Given the description of an element on the screen output the (x, y) to click on. 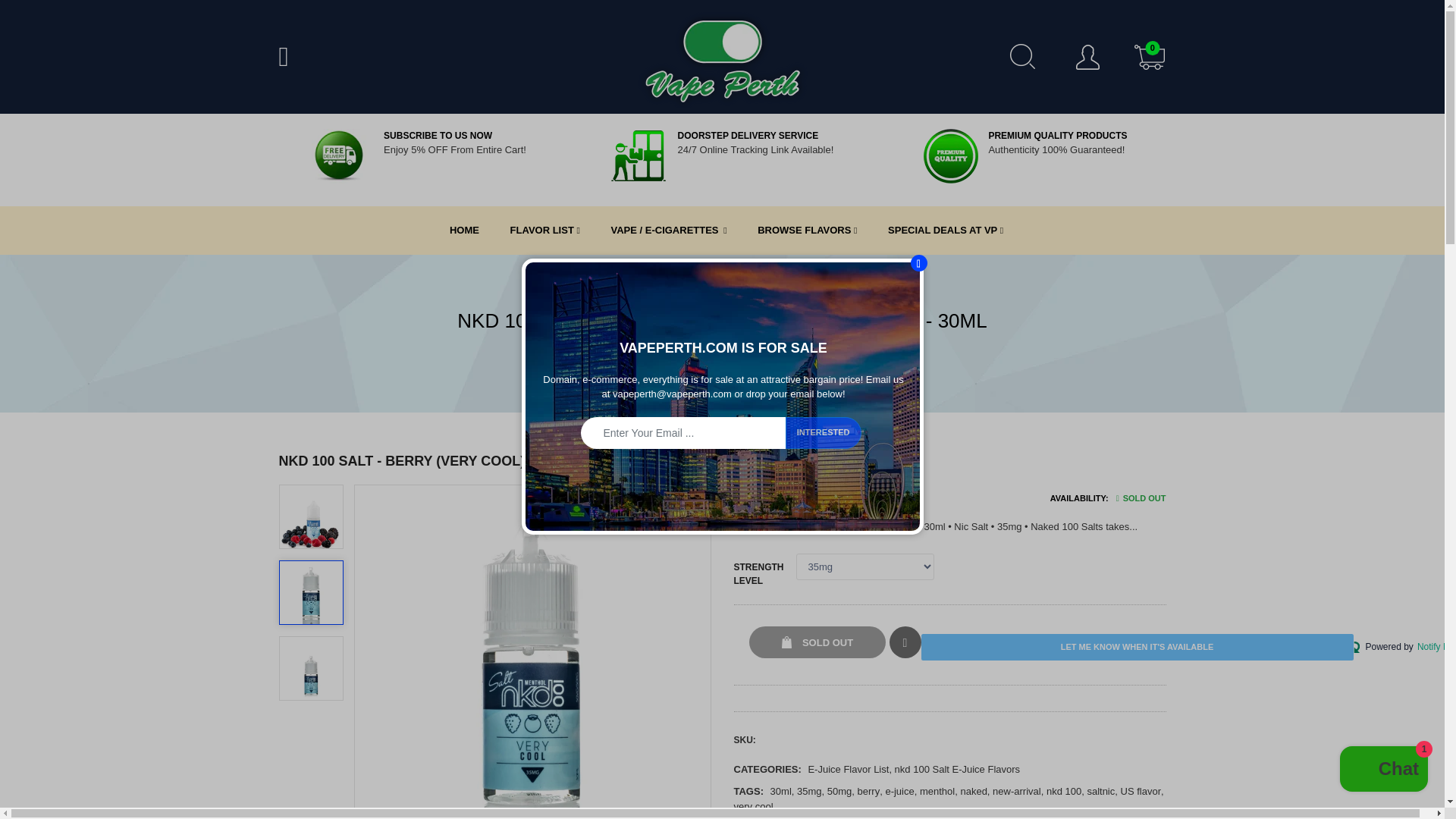
nkd 100 Salt E-Juice Flavors (957, 768)
FLAVOR LIST (535, 230)
HOME (454, 230)
E-Juice Flavor List (848, 768)
0 (1150, 58)
Home (590, 350)
